Given the description of an element on the screen output the (x, y) to click on. 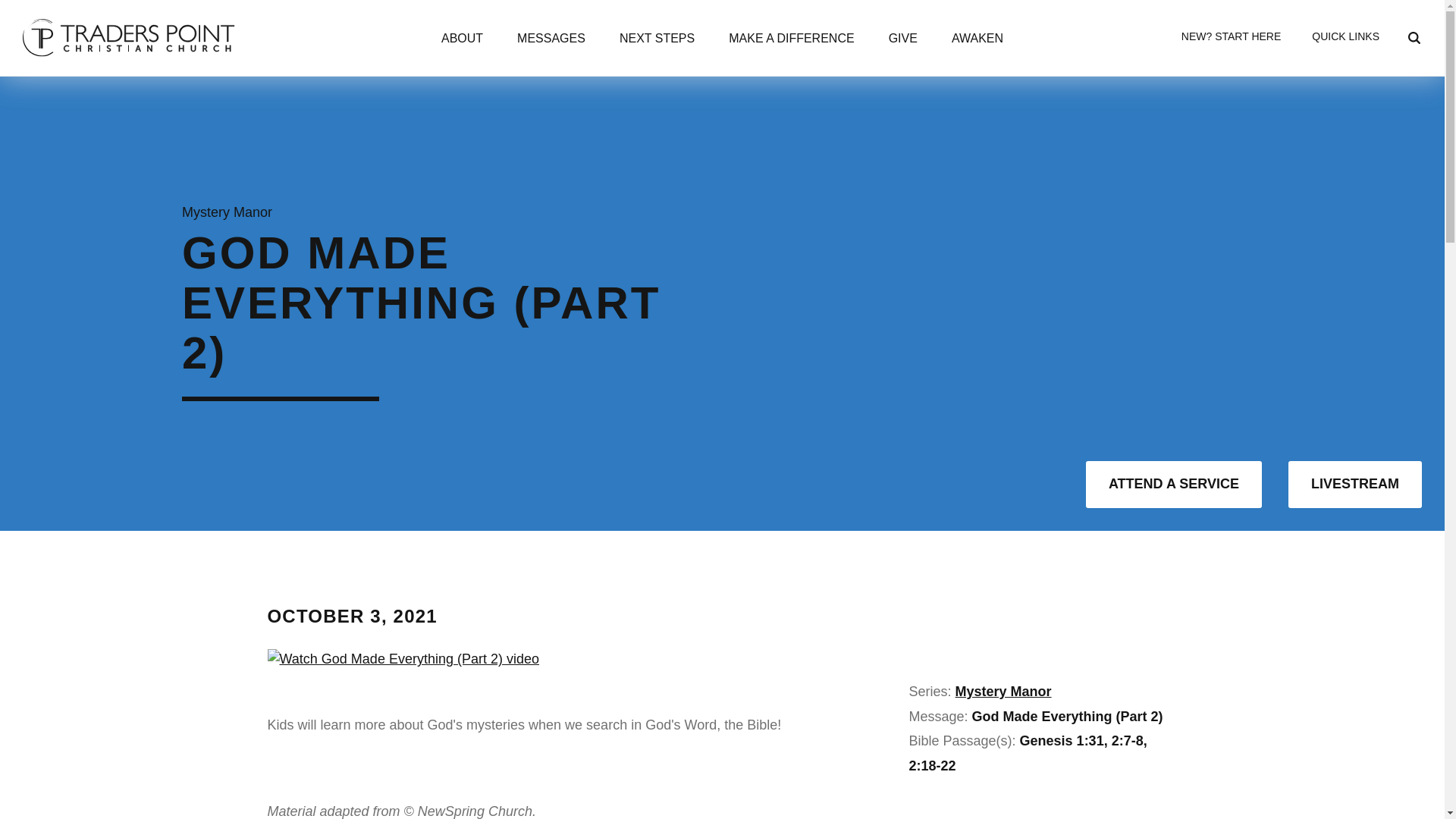
ABOUT (462, 40)
MAKE A DIFFERENCE (791, 40)
AWAKEN (977, 40)
MESSAGES (550, 40)
NEXT STEPS (657, 40)
GIVE (902, 40)
